Given the description of an element on the screen output the (x, y) to click on. 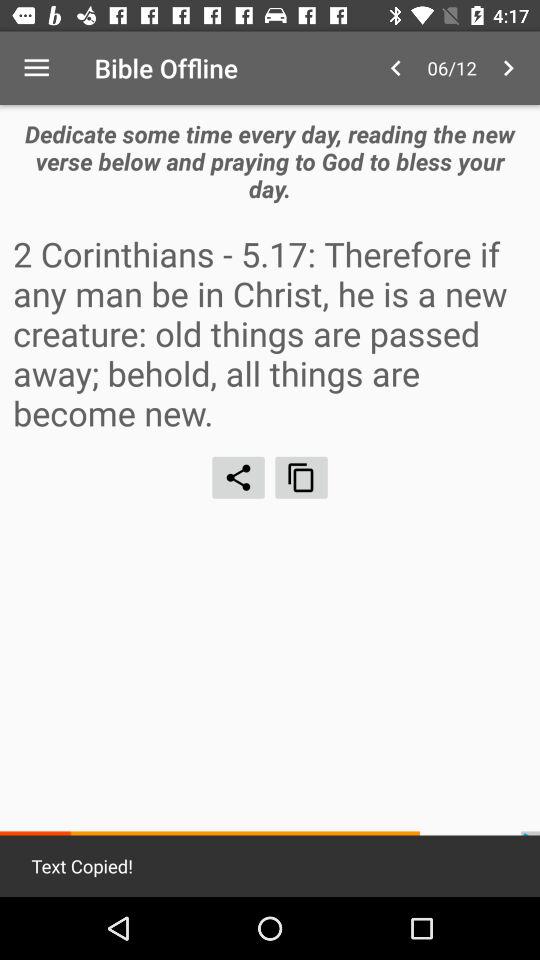
launch icon next to bible offline item (36, 68)
